Given the description of an element on the screen output the (x, y) to click on. 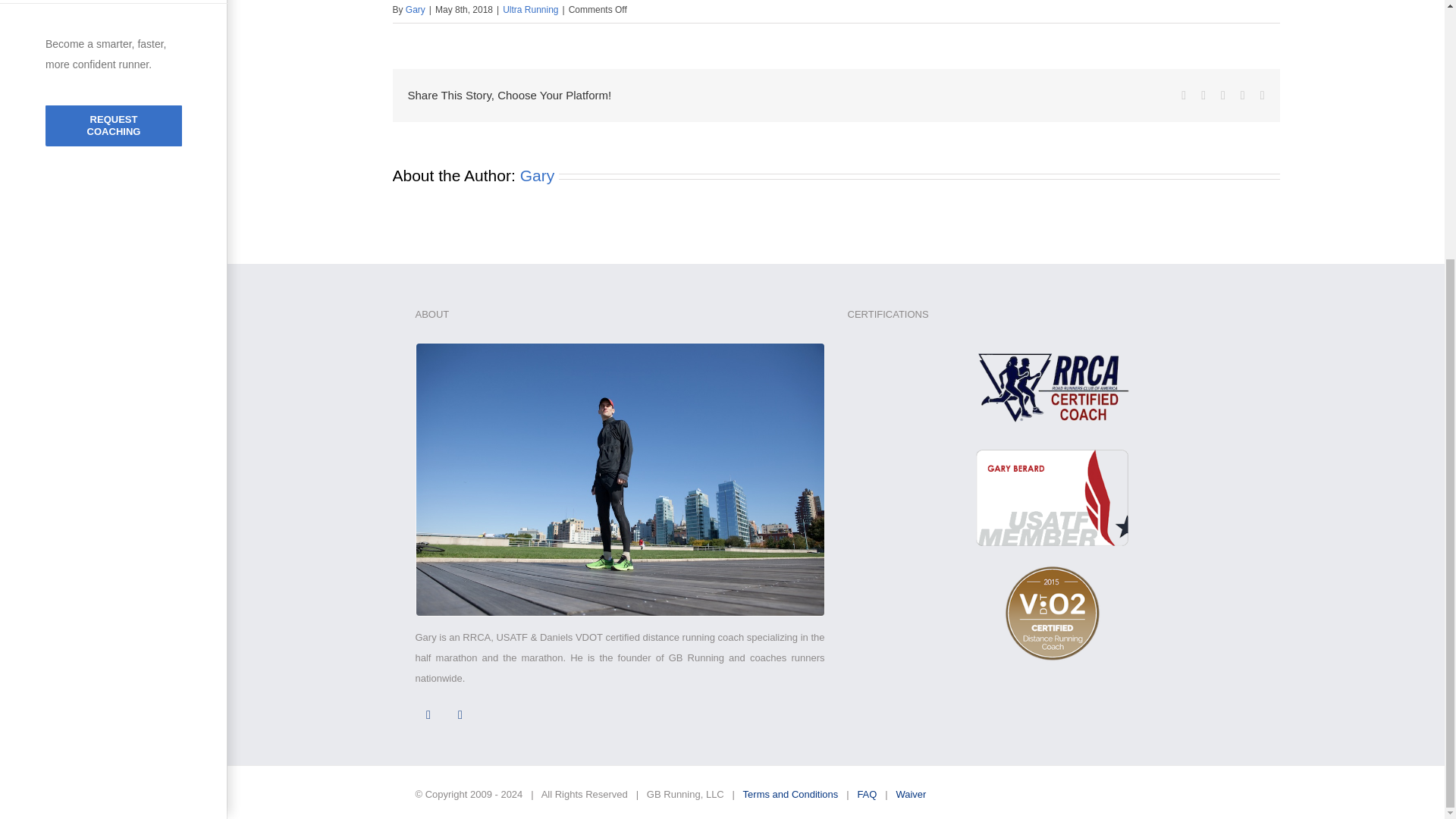
REQUEST COACHING (113, 125)
Contact (113, 2)
Posts by Gary (415, 9)
Gary (415, 9)
Posts by Gary (536, 175)
Gary (536, 175)
Ultra Running (529, 9)
